Given the description of an element on the screen output the (x, y) to click on. 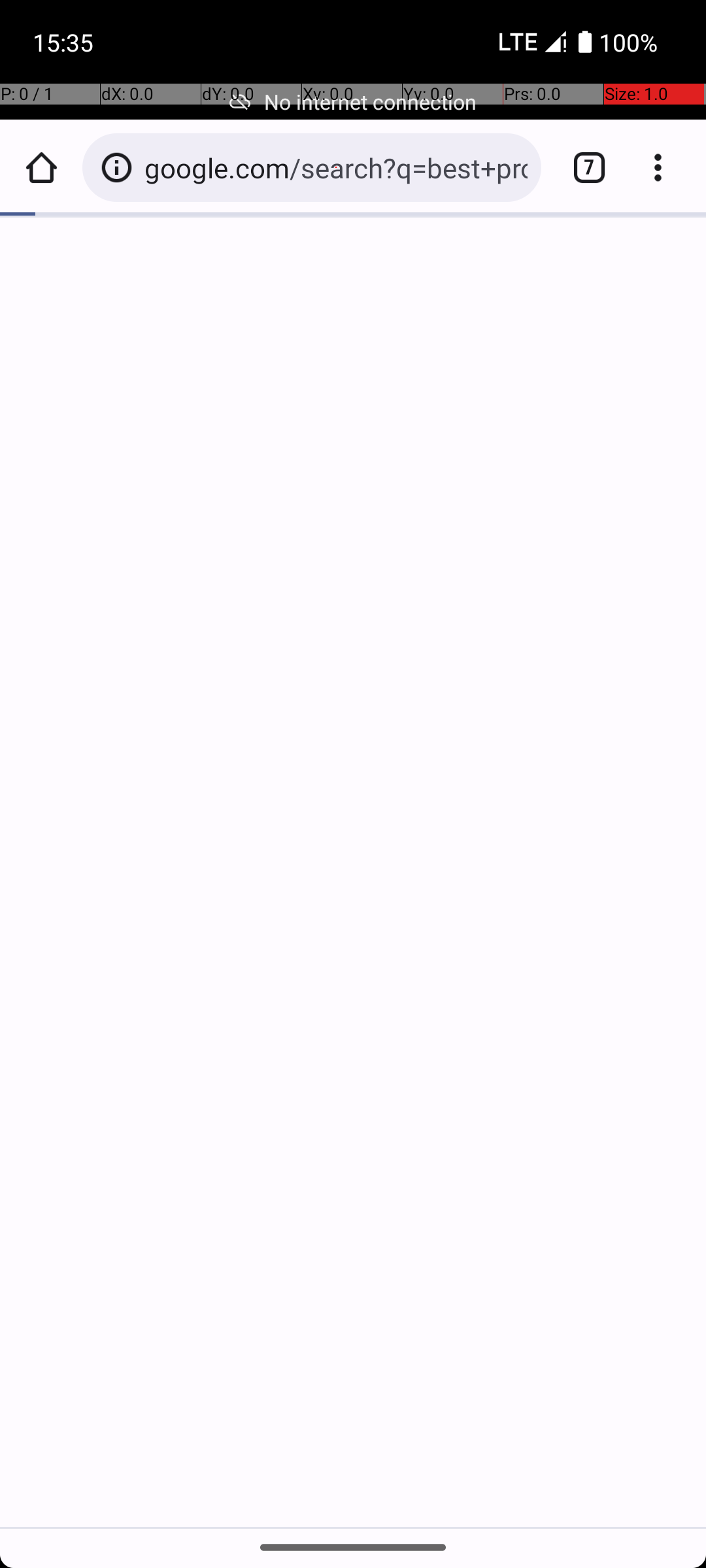
google.com/search?q=best+productivity+apps+for+2023&oq=best+productivity+apps+for+2023&aqs=chrome..69i57.1010j0j4&client=ms-unknown&sourceid=chrome-mobile&ie=UTF-8 Element type: android.widget.EditText (335, 167)
